Given the description of an element on the screen output the (x, y) to click on. 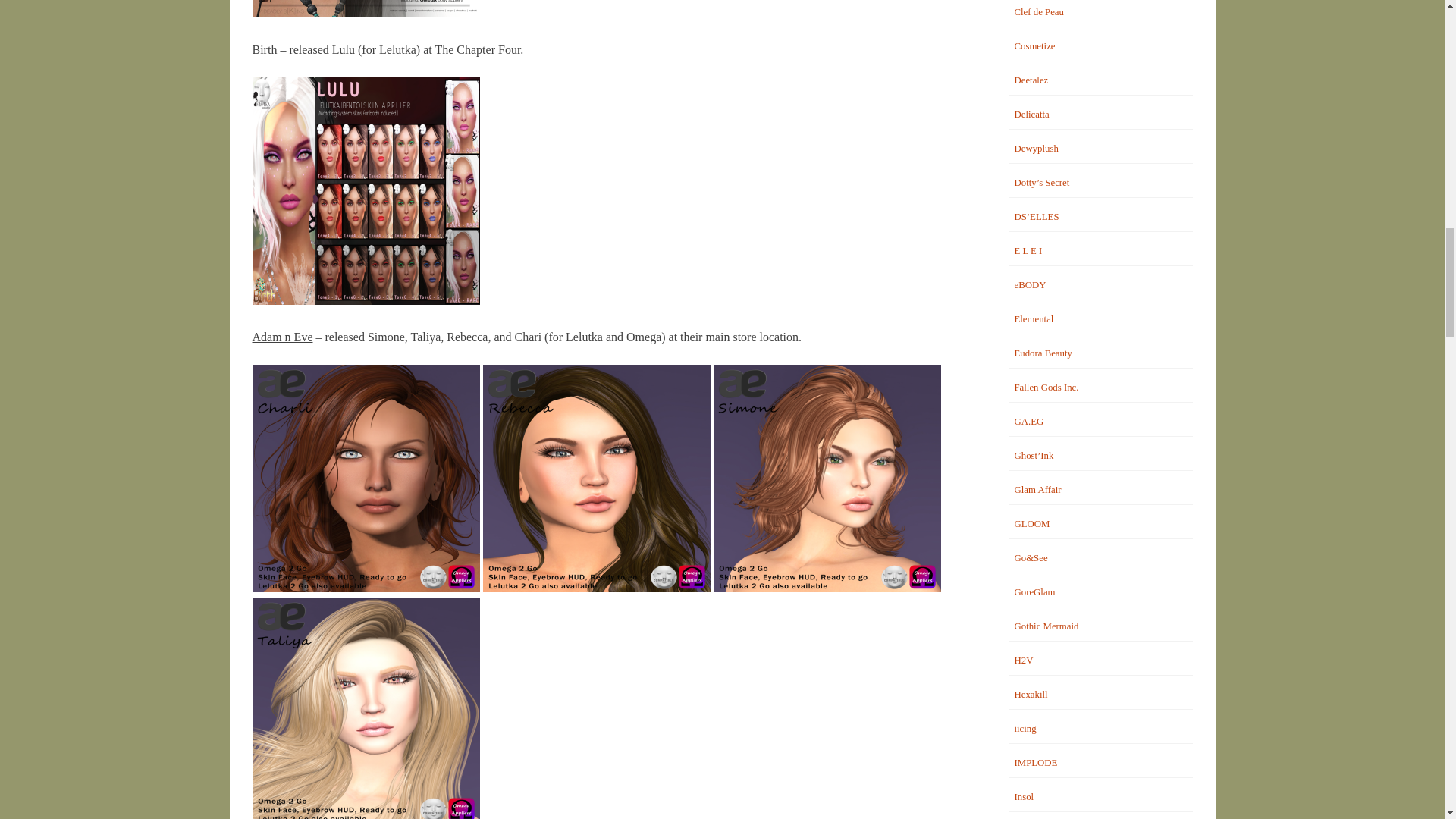
Birth (263, 49)
The Chapter Four (476, 49)
Adam n Eve (282, 336)
